Given the description of an element on the screen output the (x, y) to click on. 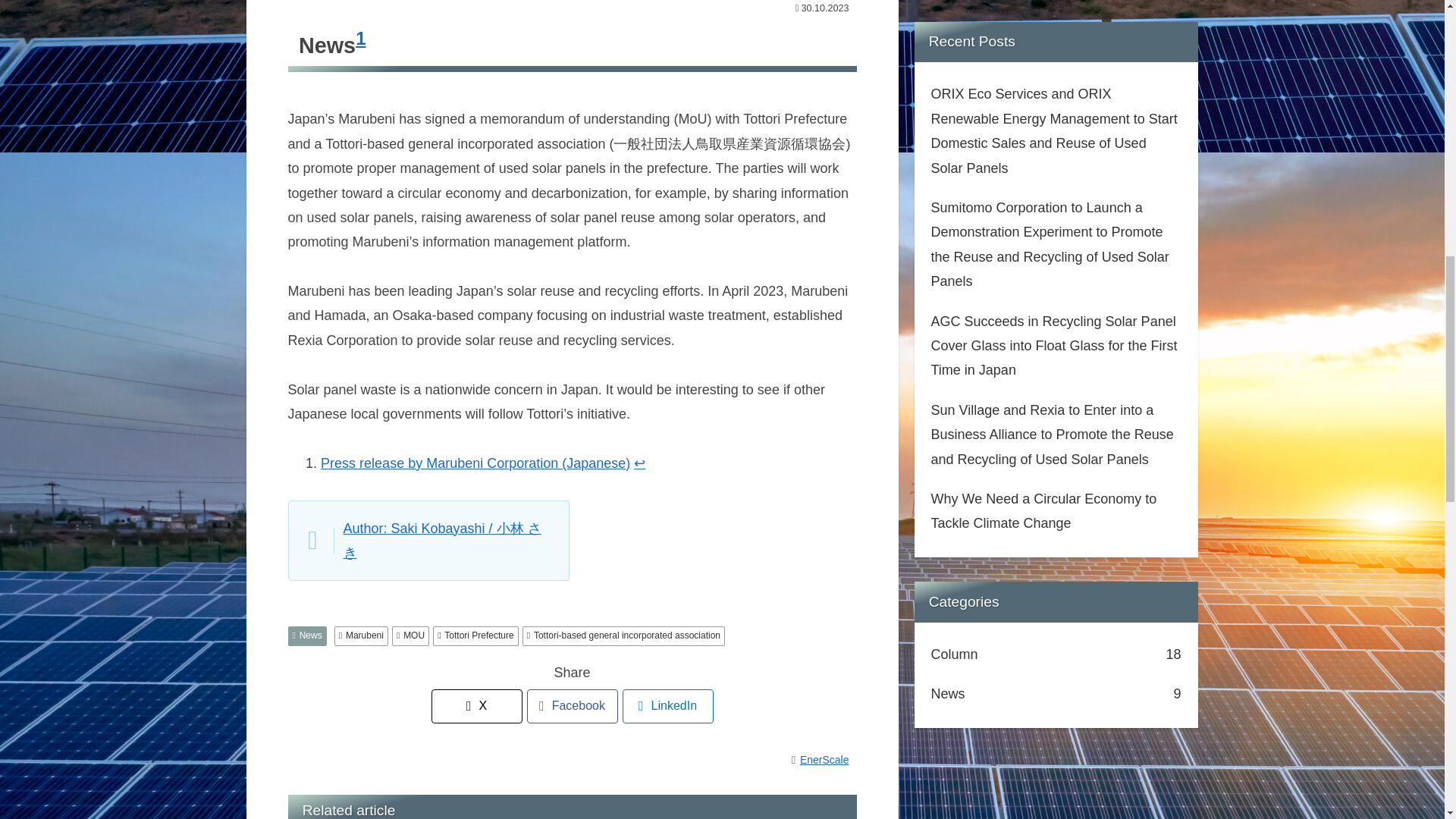
LinkedIn (667, 706)
Marubeni (361, 636)
Facebook (571, 706)
News (307, 636)
MOU (410, 636)
Tottori Prefecture (475, 636)
X (475, 706)
EnerScale (827, 759)
Tottori-based general incorporated association (623, 636)
